Given the description of an element on the screen output the (x, y) to click on. 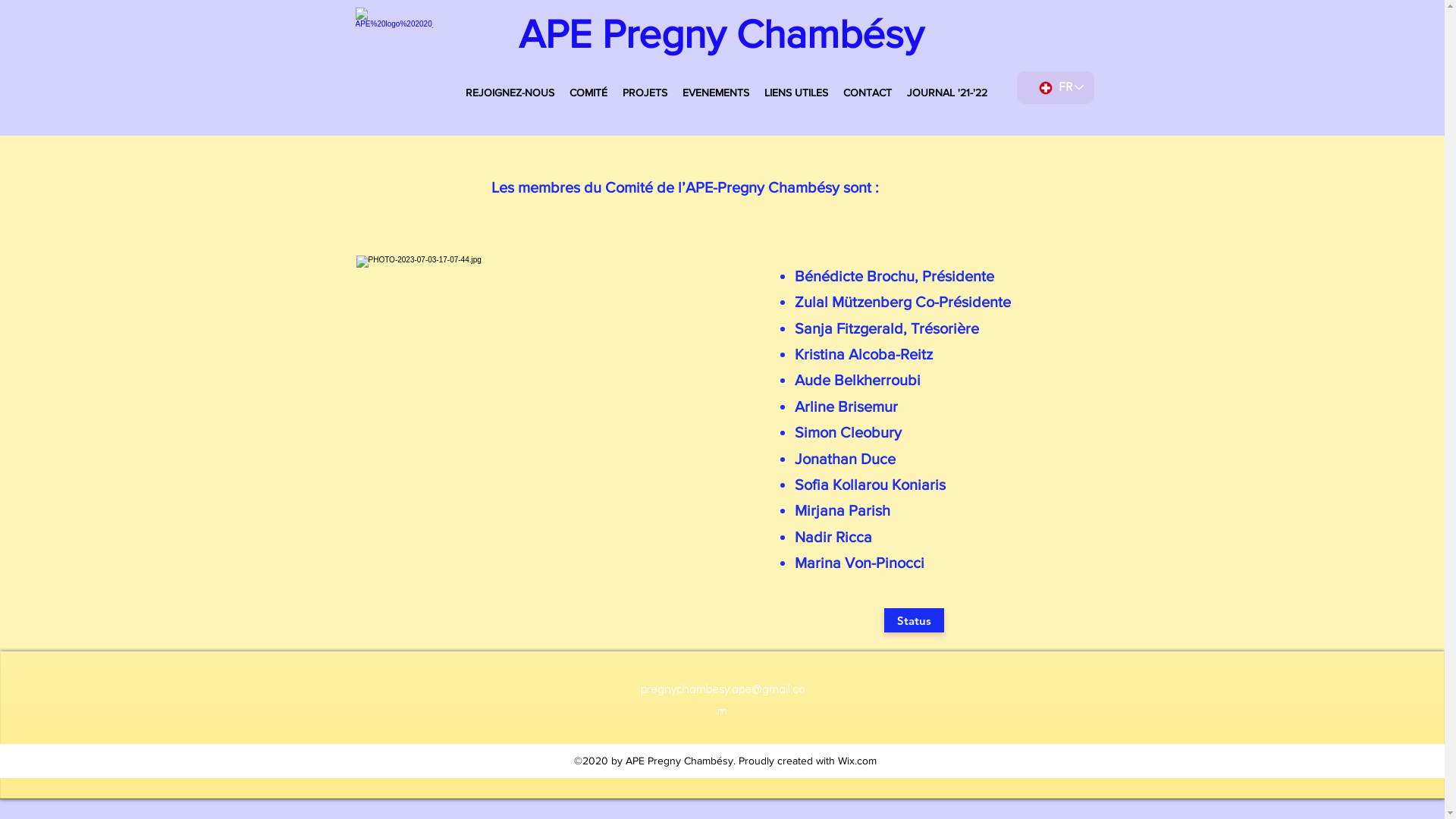
pregnychambesy.ape@gmail.com Element type: text (721, 700)
Status Element type: text (914, 620)
LIENS UTILES Element type: text (795, 92)
PROJETS Element type: text (644, 92)
EVENEMENTS Element type: text (715, 92)
CONTACT Element type: text (867, 92)
JOURNAL '21-'22 Element type: text (946, 92)
REJOIGNEZ-NOUS Element type: text (509, 92)
